Given the description of an element on the screen output the (x, y) to click on. 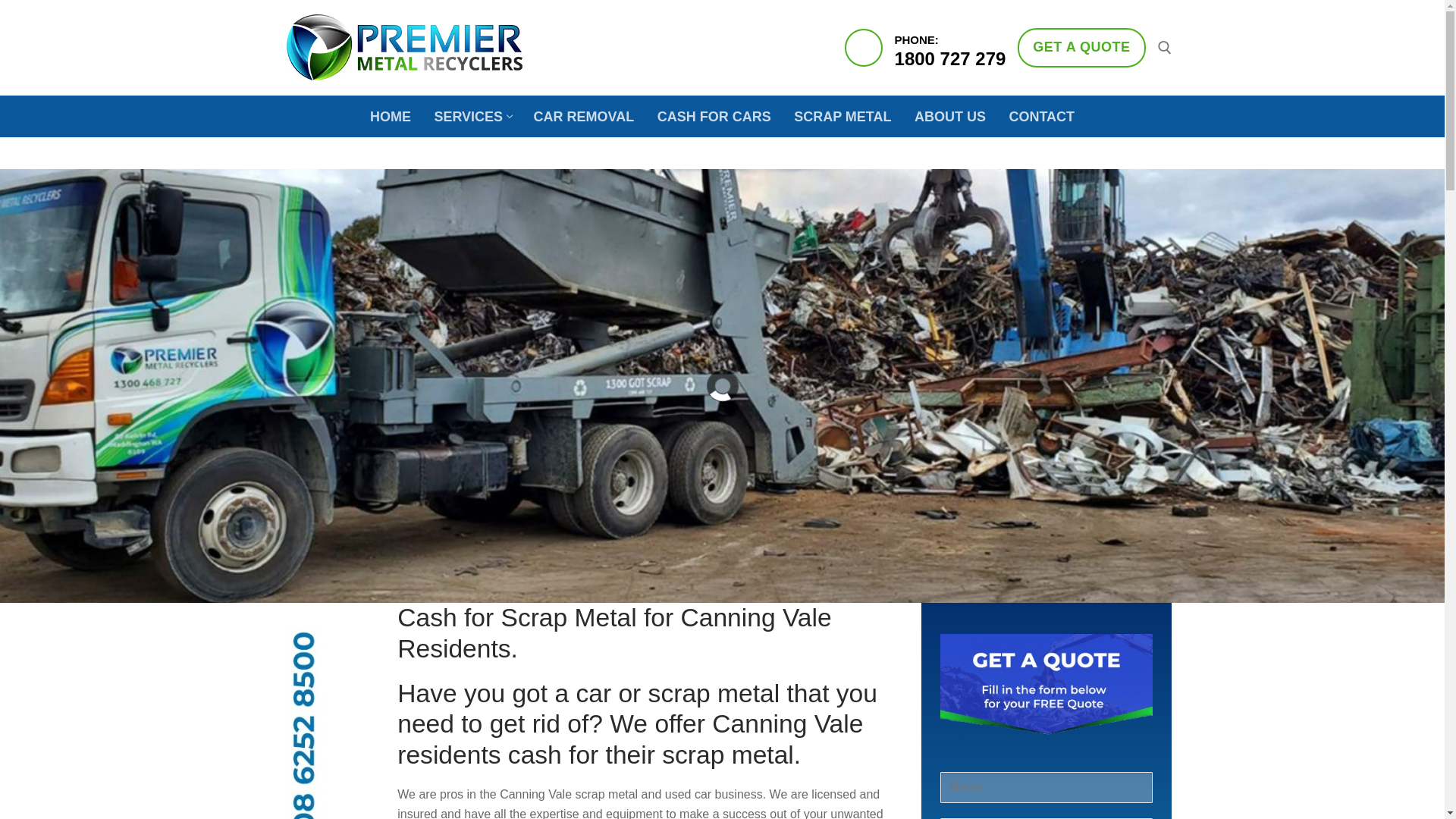
HOME (389, 115)
CONTACT (1041, 115)
CASH FOR CARS (713, 115)
CAR REMOVAL (584, 115)
SCRAP METAL (842, 115)
GET A QUOTE (471, 115)
ABOUT US (1080, 47)
